Given the description of an element on the screen output the (x, y) to click on. 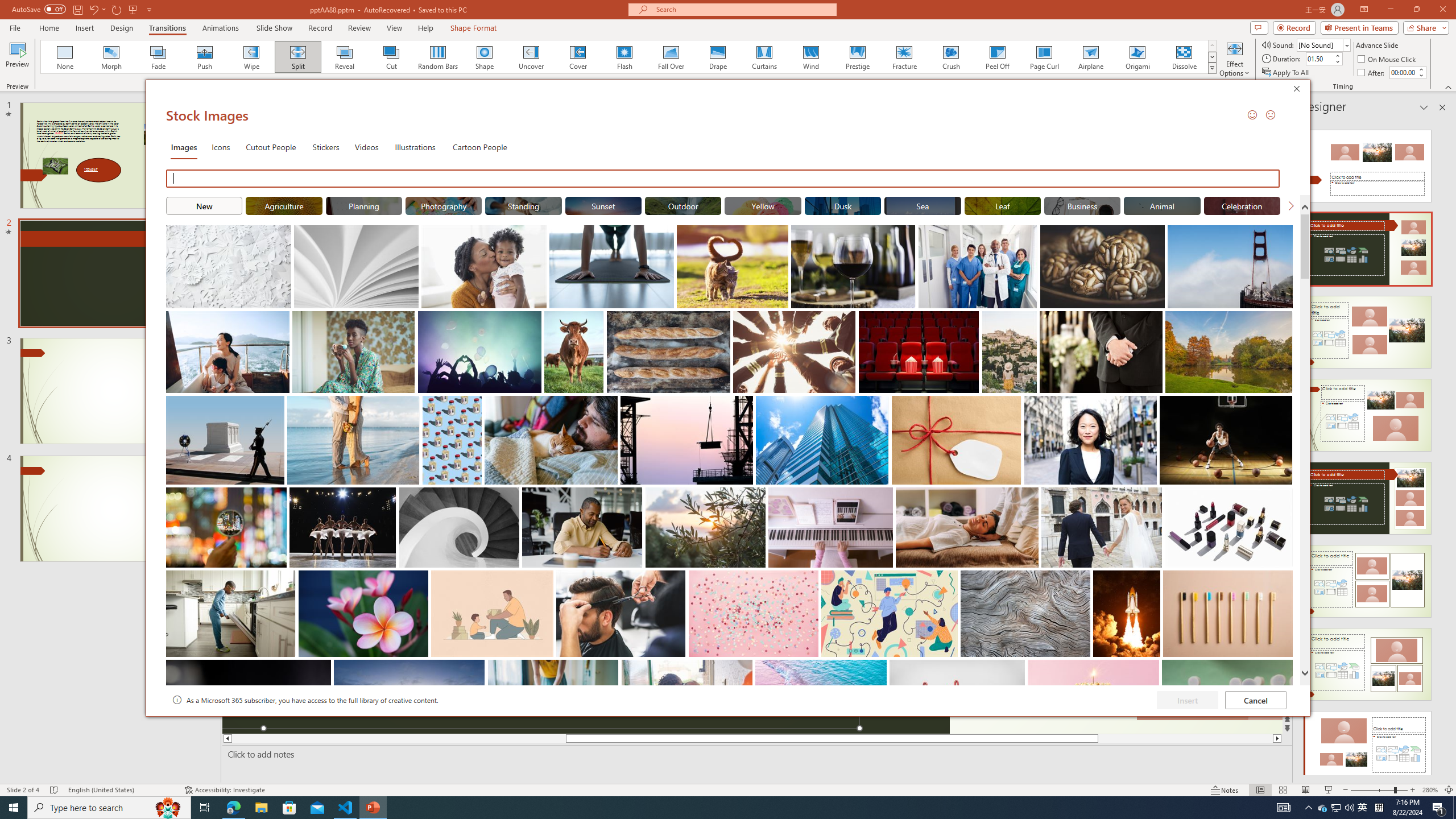
"Agriculture" Stock Images. (283, 205)
"Dusk" Stock Images. (842, 205)
Fracture (903, 56)
Peel Off (997, 56)
None (65, 56)
Row Down (1212, 56)
Thumbnail (1283, 668)
